Given the description of an element on the screen output the (x, y) to click on. 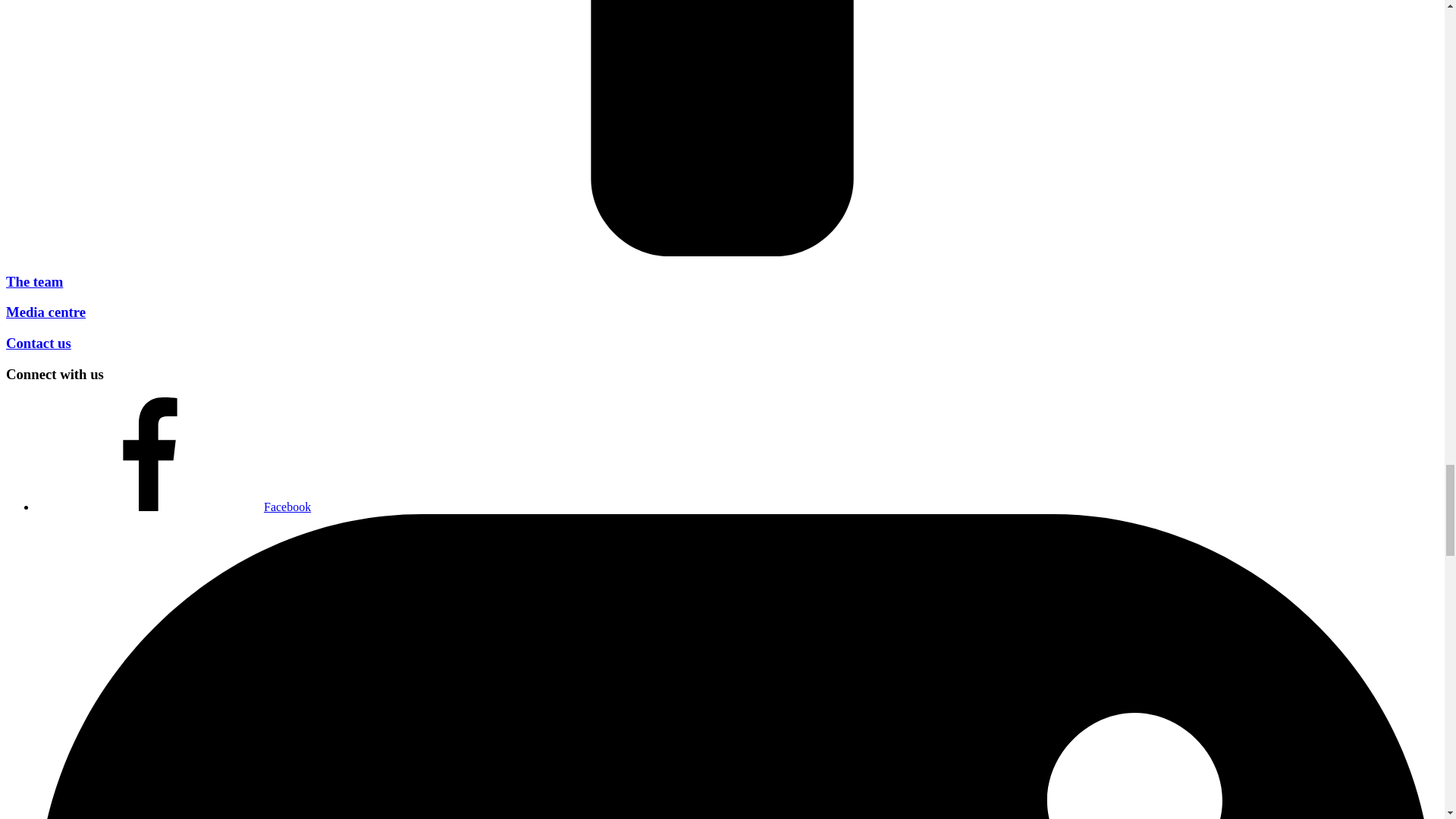
The team (33, 281)
Facebook (173, 506)
Contact us (38, 342)
Media centre (45, 311)
